Given the description of an element on the screen output the (x, y) to click on. 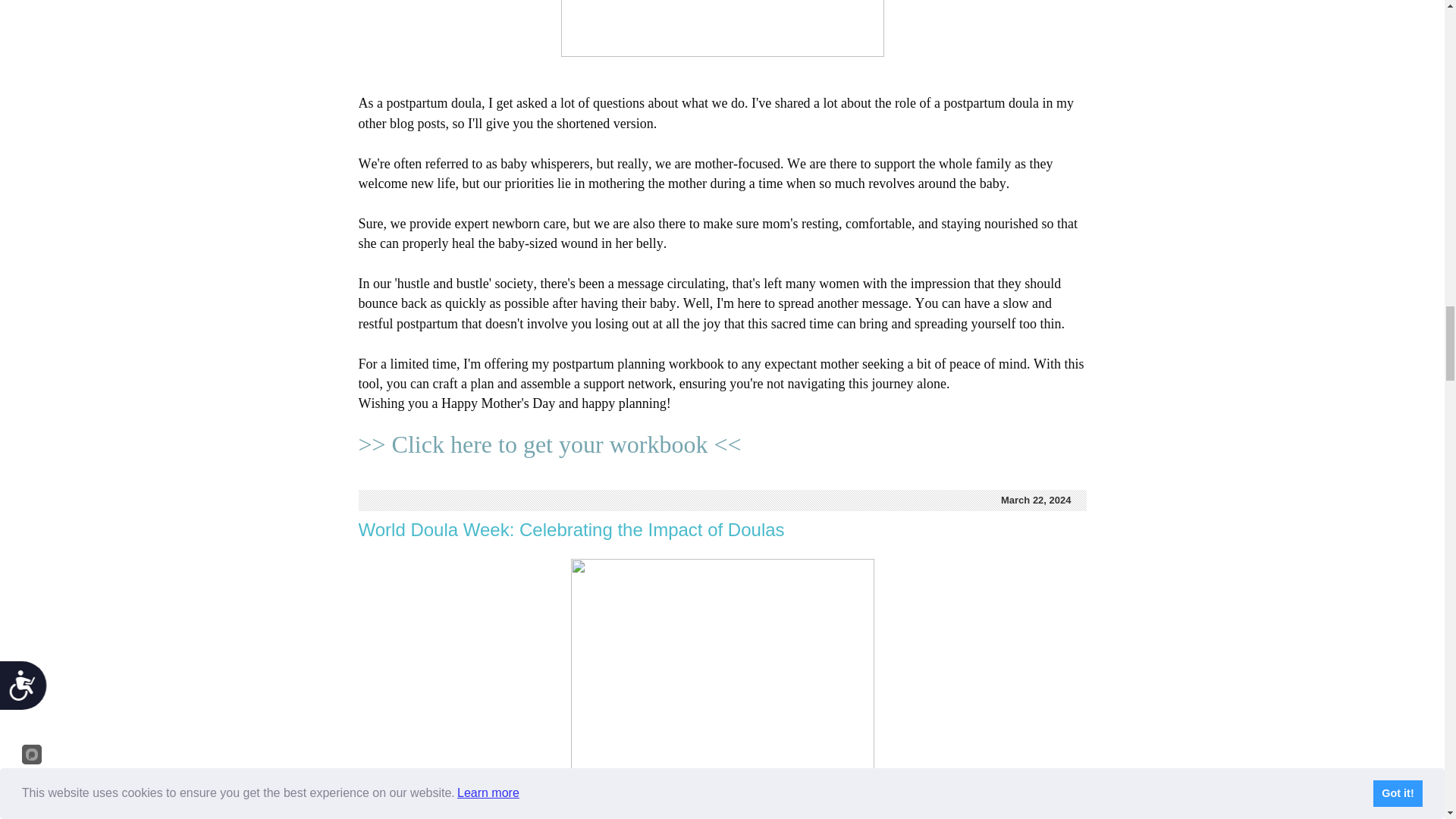
World Doula Week: Celebrating the Impact of Doulas (571, 529)
